Given the description of an element on the screen output the (x, y) to click on. 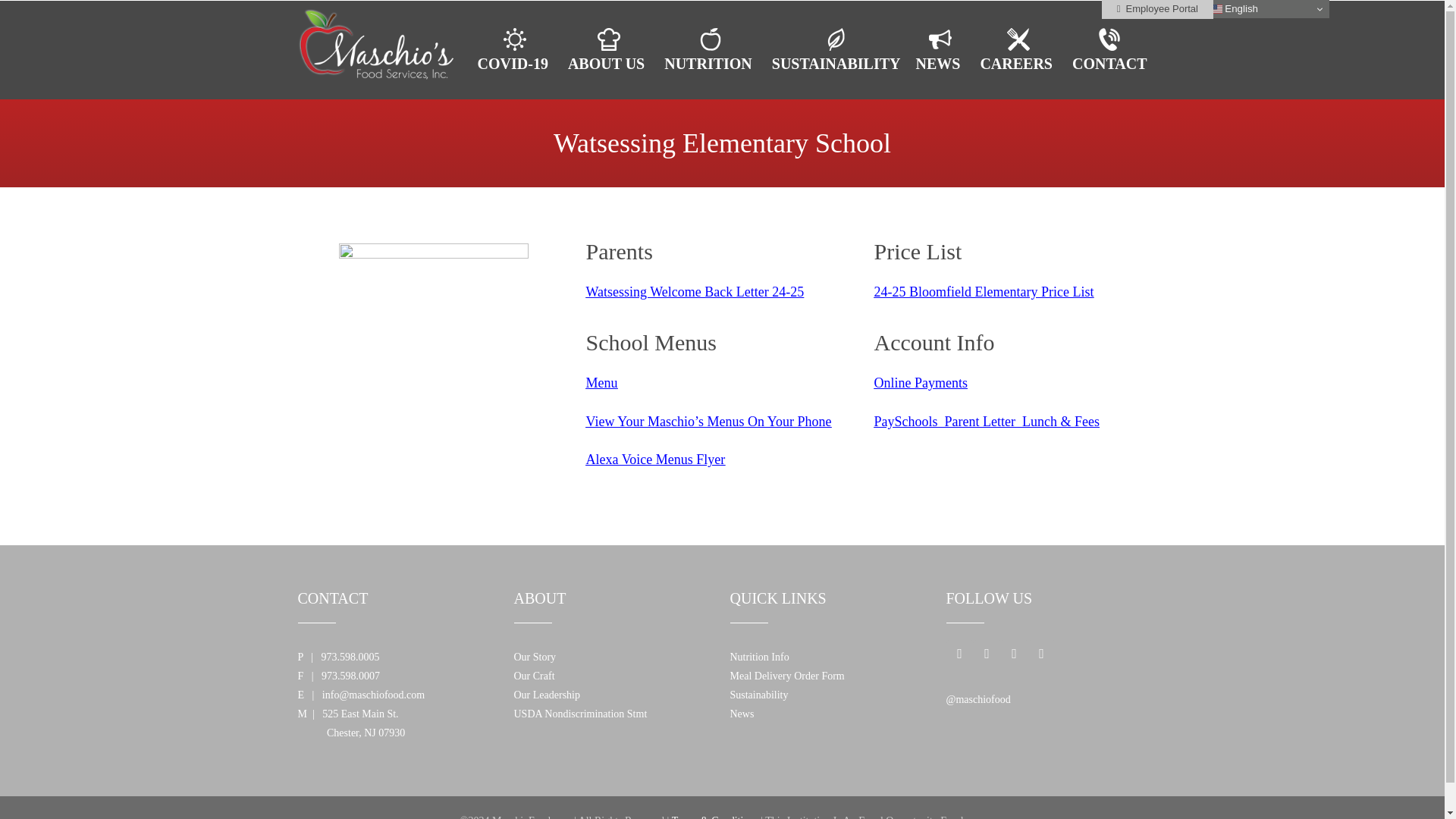
Employee Portal (1157, 9)
ABOUT US (608, 49)
24-25 Bloomfield Elementary Price List (983, 291)
Alexa Voice Menus Flyer (655, 459)
SUSTAINABILITY (836, 49)
NUTRITION (710, 49)
CAREERS (1018, 49)
Menu (601, 382)
Online Payments (920, 382)
COVID-19 (515, 49)
Watsessing Welcome Back Letter 24-25 (694, 291)
CONTACT (1109, 49)
NEWS (939, 49)
